Given the description of an element on the screen output the (x, y) to click on. 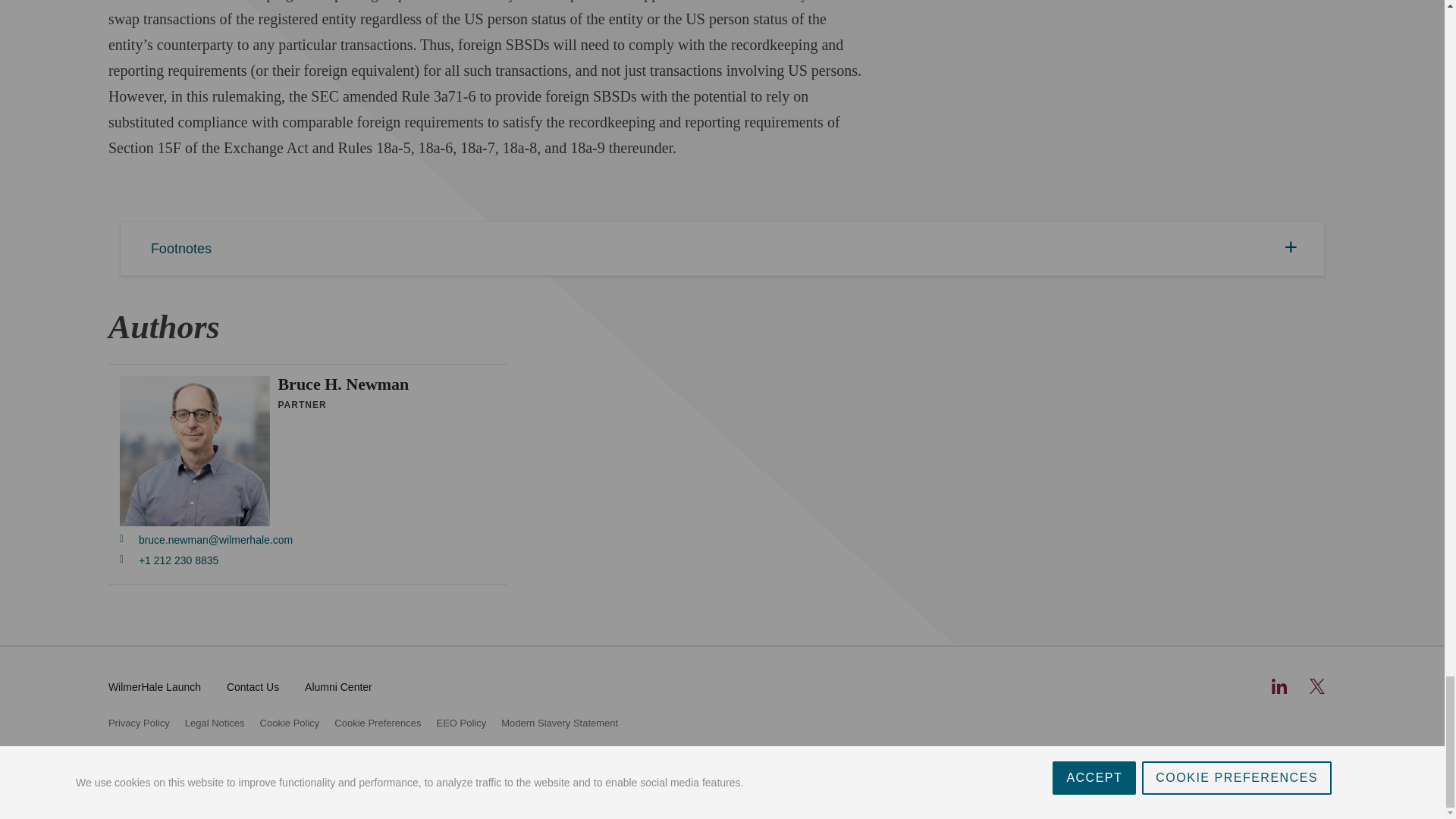
WilmerHale on X (1316, 685)
WilmerHale on LinkedIn (1279, 685)
